Given the description of an element on the screen output the (x, y) to click on. 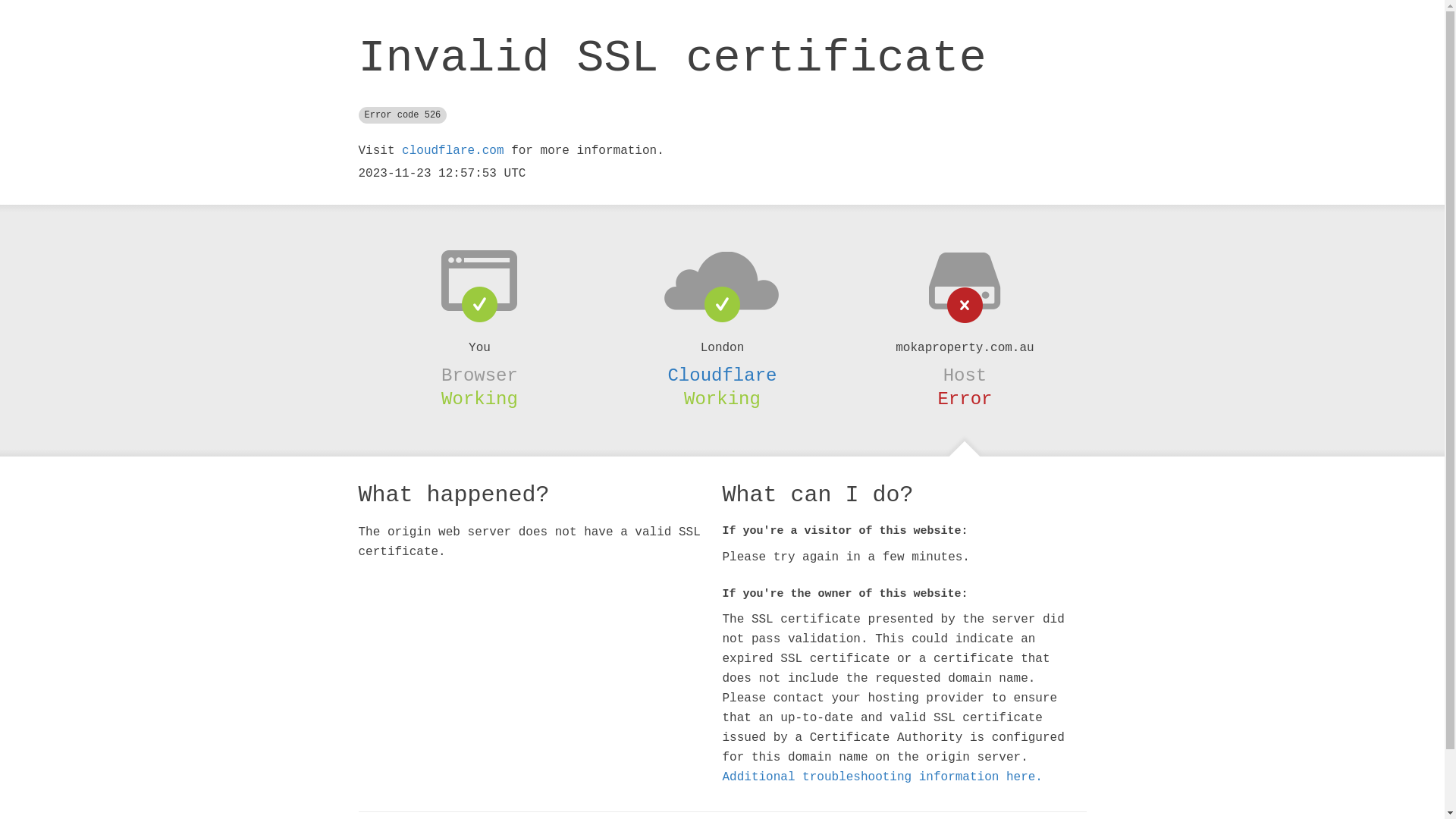
Additional troubleshooting information here. Element type: text (881, 777)
cloudflare.com Element type: text (452, 150)
Cloudflare Element type: text (721, 375)
